Given the description of an element on the screen output the (x, y) to click on. 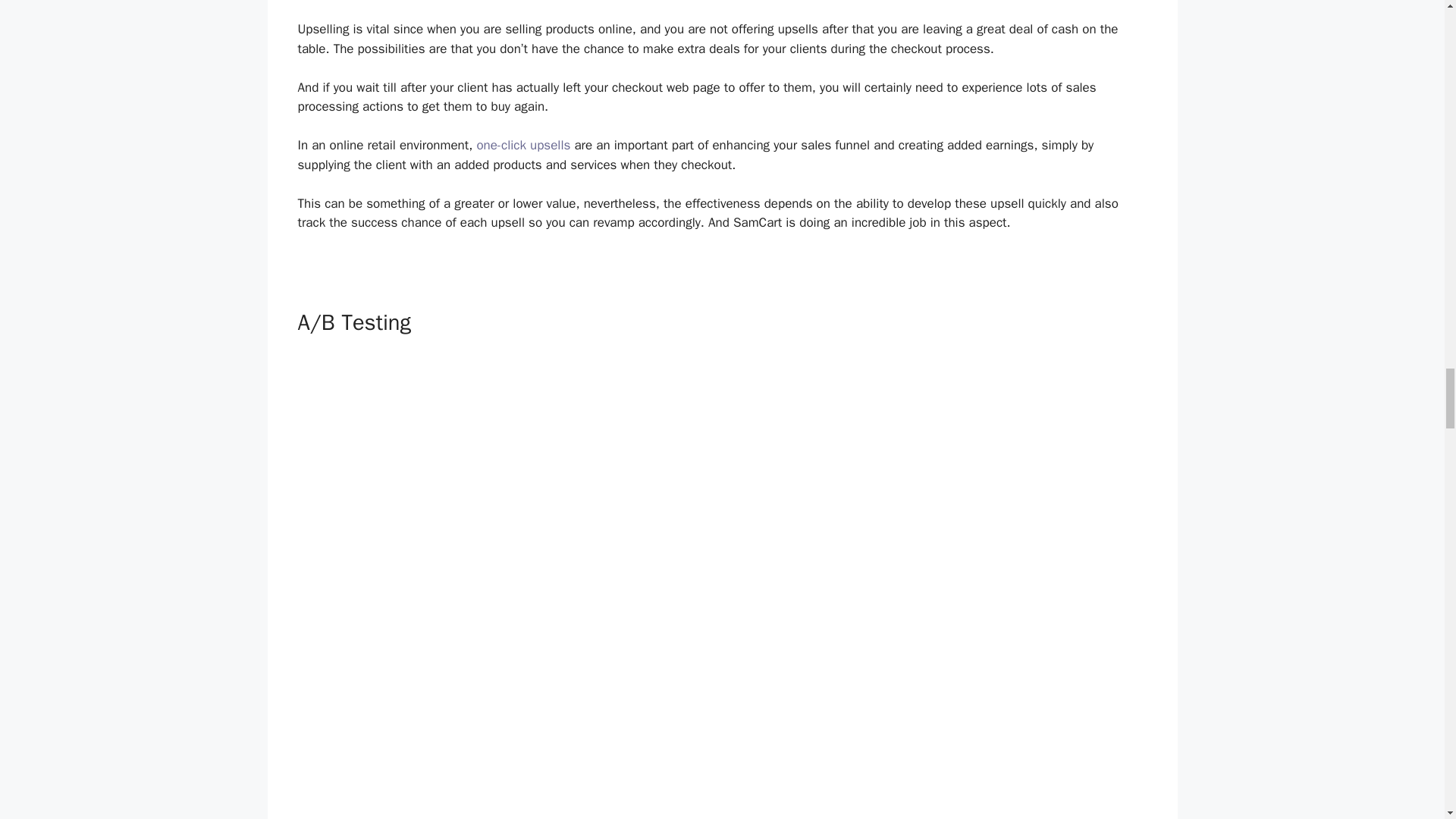
one-click upsells (523, 145)
